Given the description of an element on the screen output the (x, y) to click on. 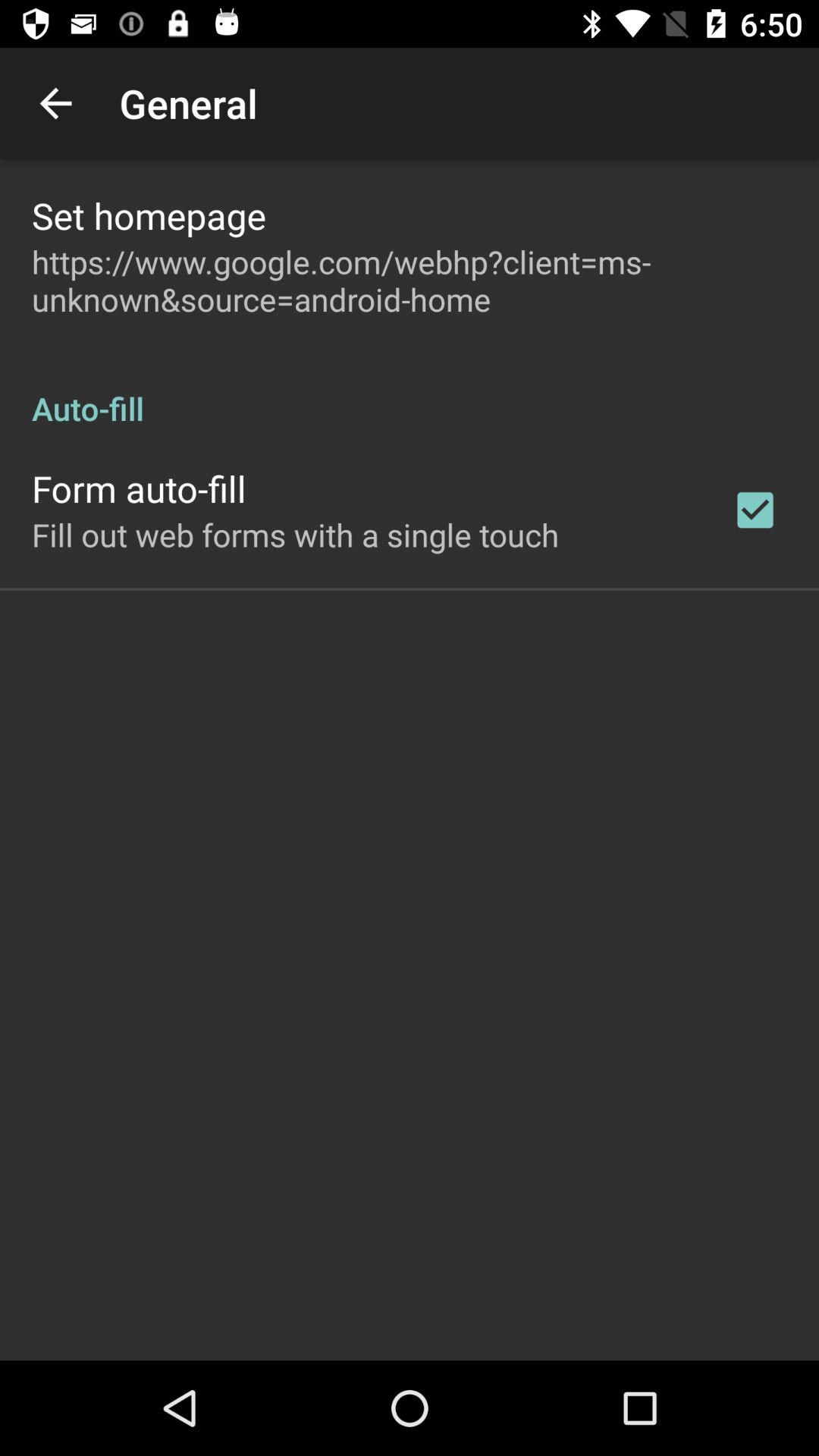
turn on the app to the left of general item (55, 103)
